Given the description of an element on the screen output the (x, y) to click on. 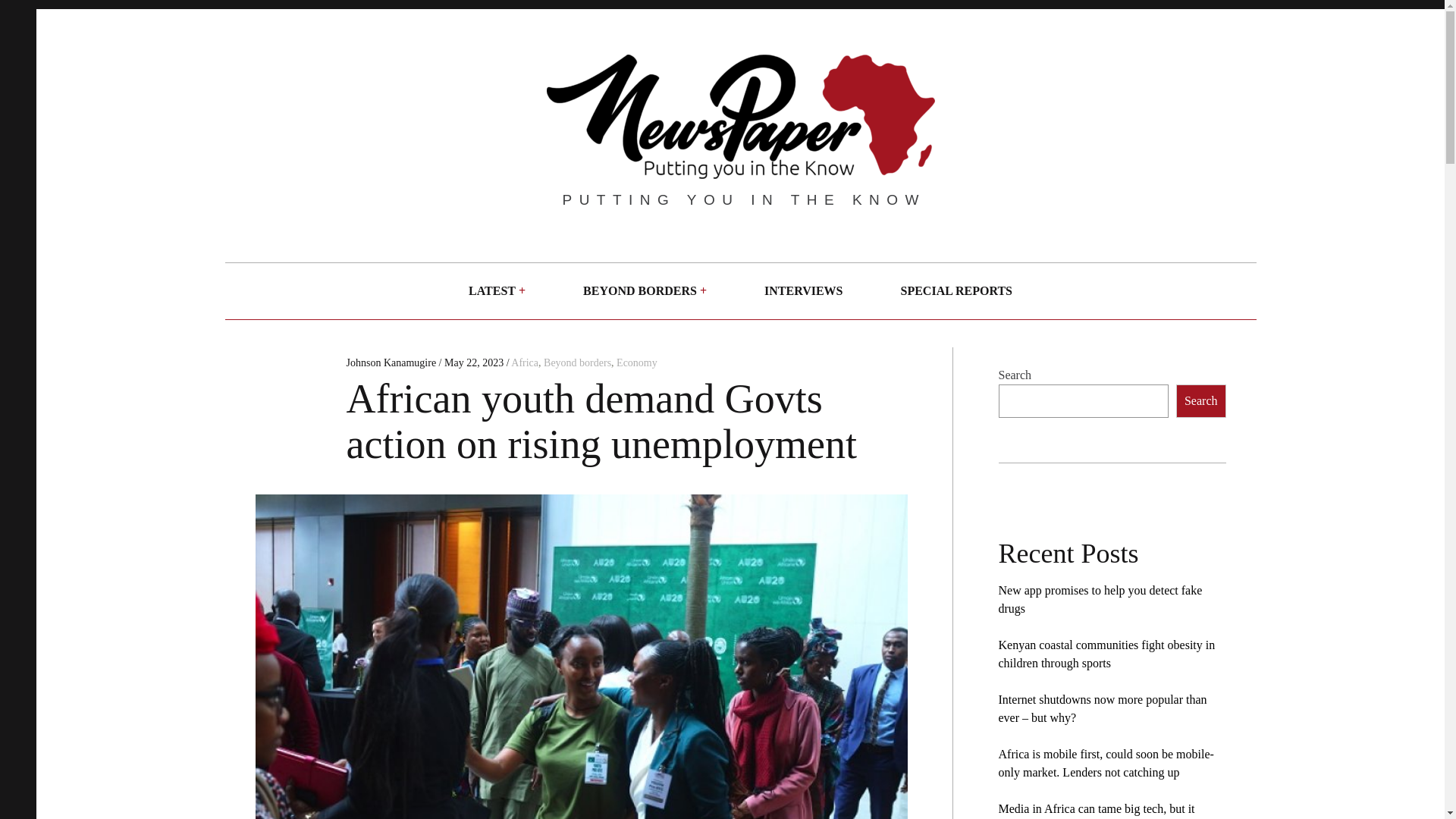
LATEST (492, 290)
BEYOND BORDERS (639, 290)
Africa (524, 362)
SPECIAL REPORTS (956, 290)
INTERVIEWS (802, 290)
Johnson Kanamugire (392, 362)
May 22, 2023 (473, 362)
Beyond borders (577, 362)
Economy (636, 362)
